Given the description of an element on the screen output the (x, y) to click on. 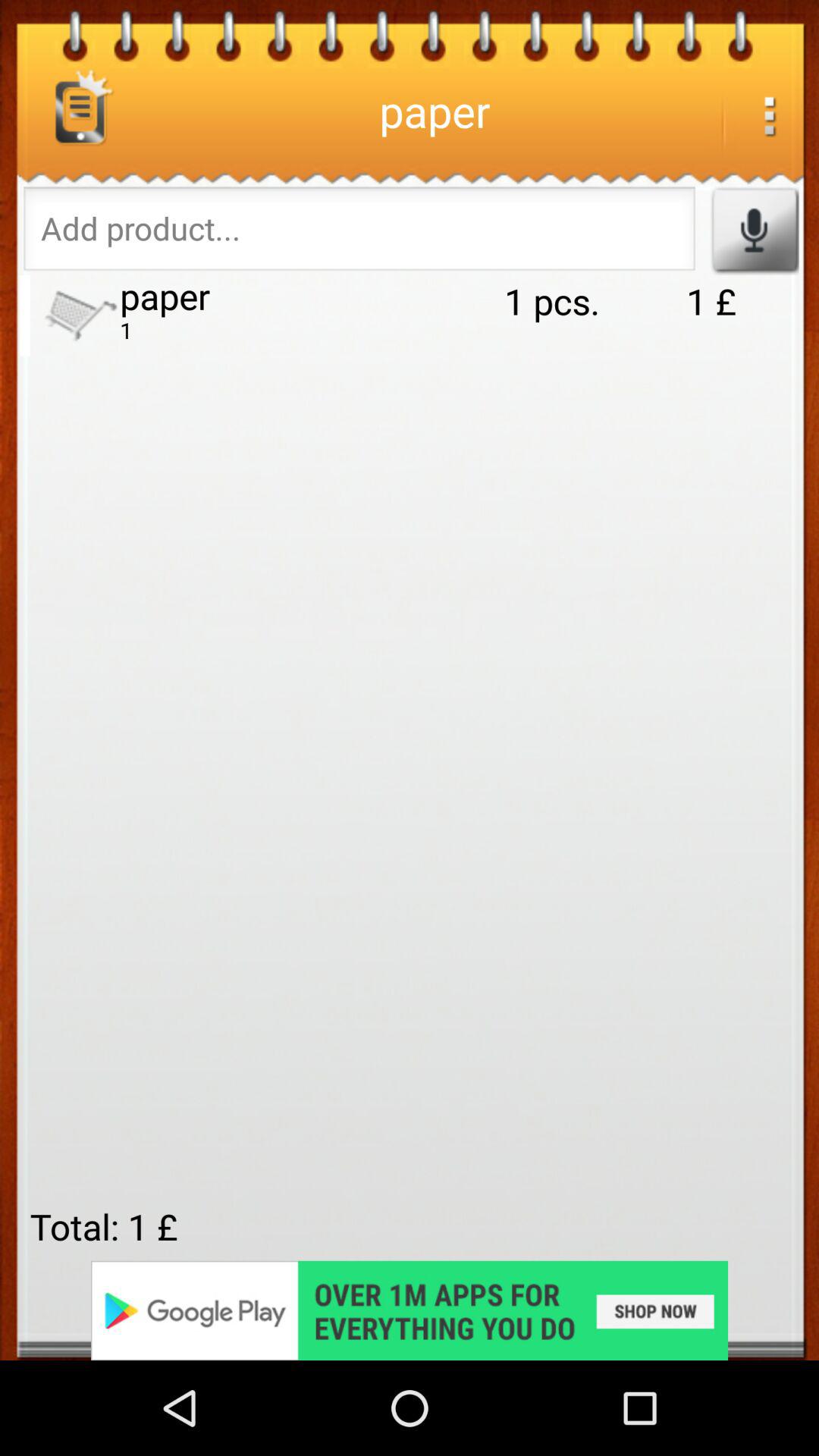
voice searching (754, 230)
